Given the description of an element on the screen output the (x, y) to click on. 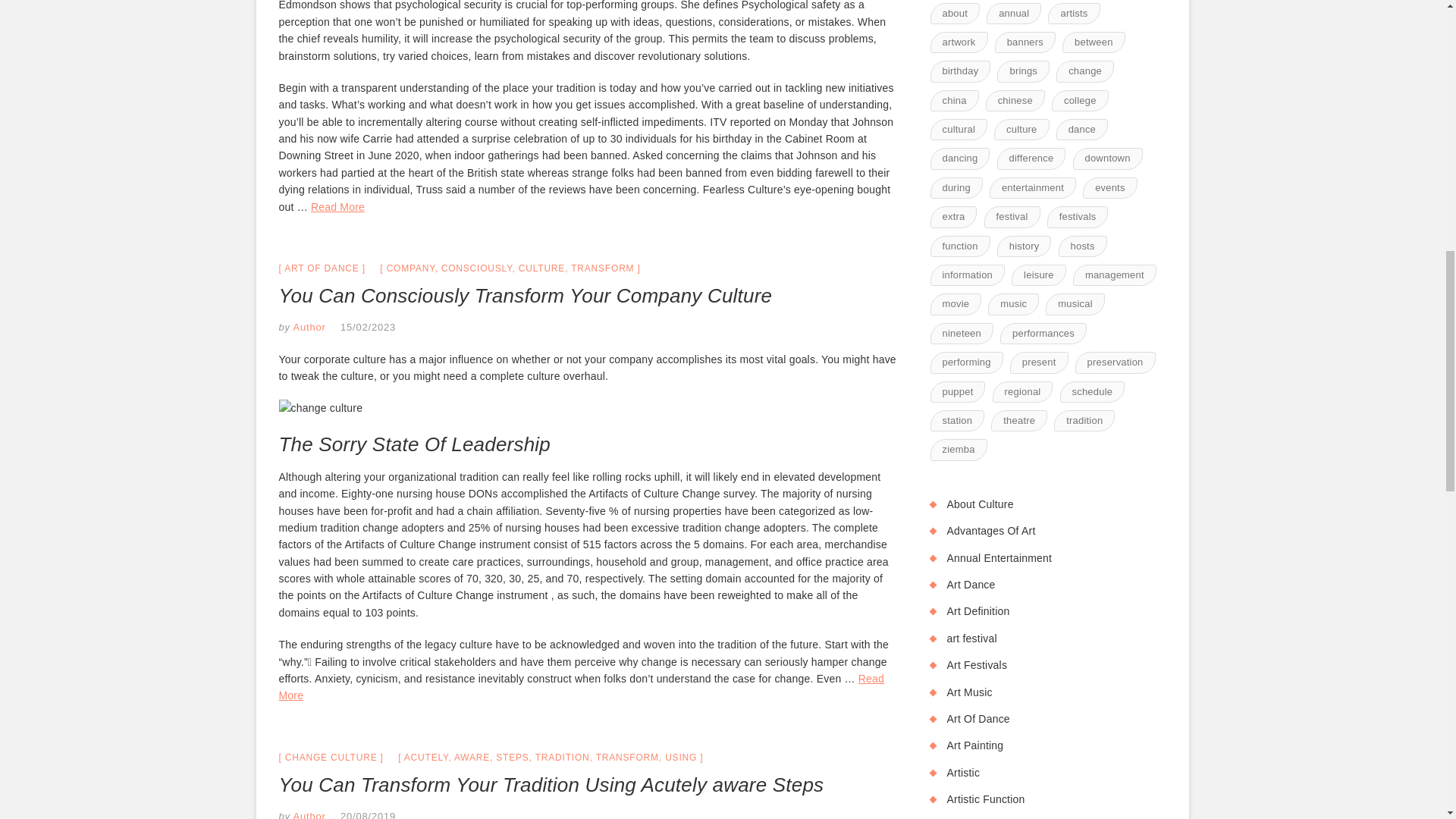
03:45 (368, 326)
Author (307, 326)
23:51 (368, 814)
Author (307, 814)
You Can Consciously Transform Your Company Culture (526, 295)
You Can Transform Your Tradition Using Acutely aware Steps (551, 784)
